Given the description of an element on the screen output the (x, y) to click on. 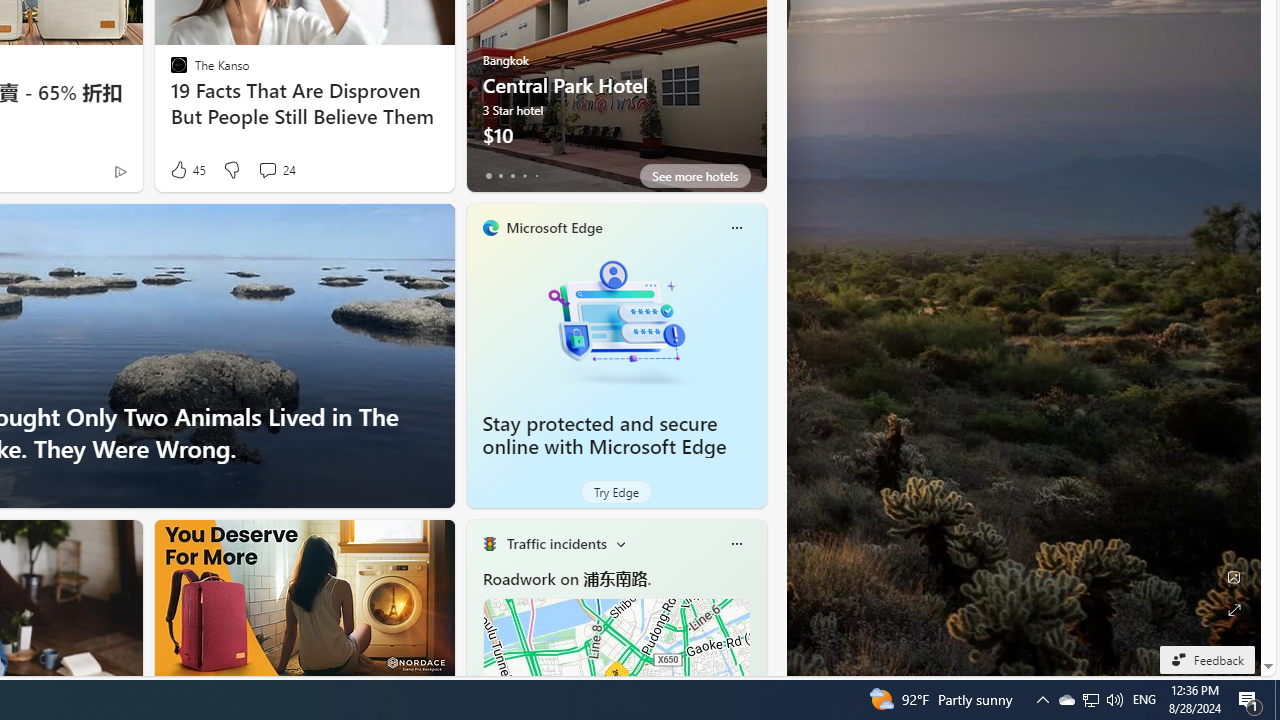
Traffic incidents (555, 543)
Microsoft Edge (553, 227)
Stay protected and secure online with Microsoft Edge (604, 435)
Expand background (1233, 610)
45 Like (186, 170)
tab-3 (524, 175)
See more hotels (694, 175)
Traffic Title Traffic Light (489, 543)
